Given the description of an element on the screen output the (x, y) to click on. 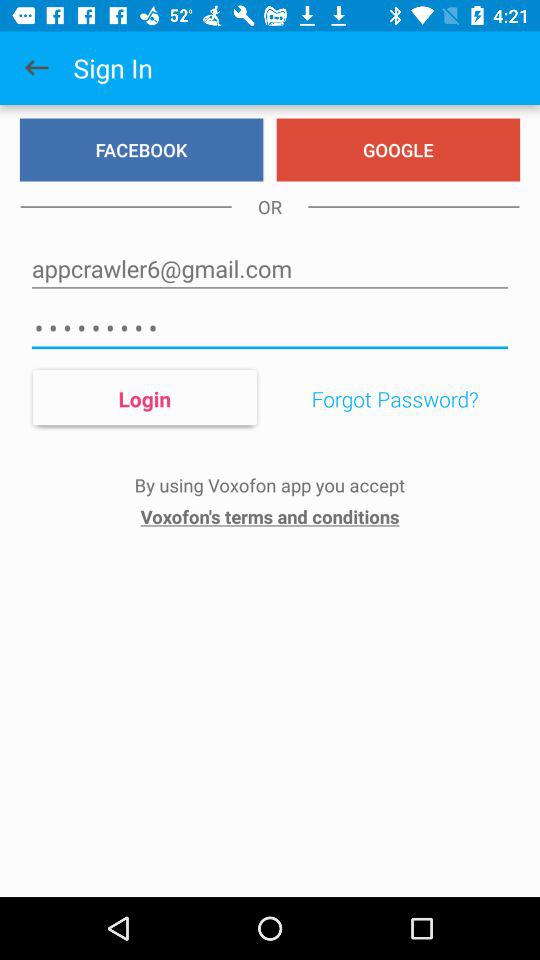
swipe to the appcrawler6@gmail.com icon (269, 268)
